Given the description of an element on the screen output the (x, y) to click on. 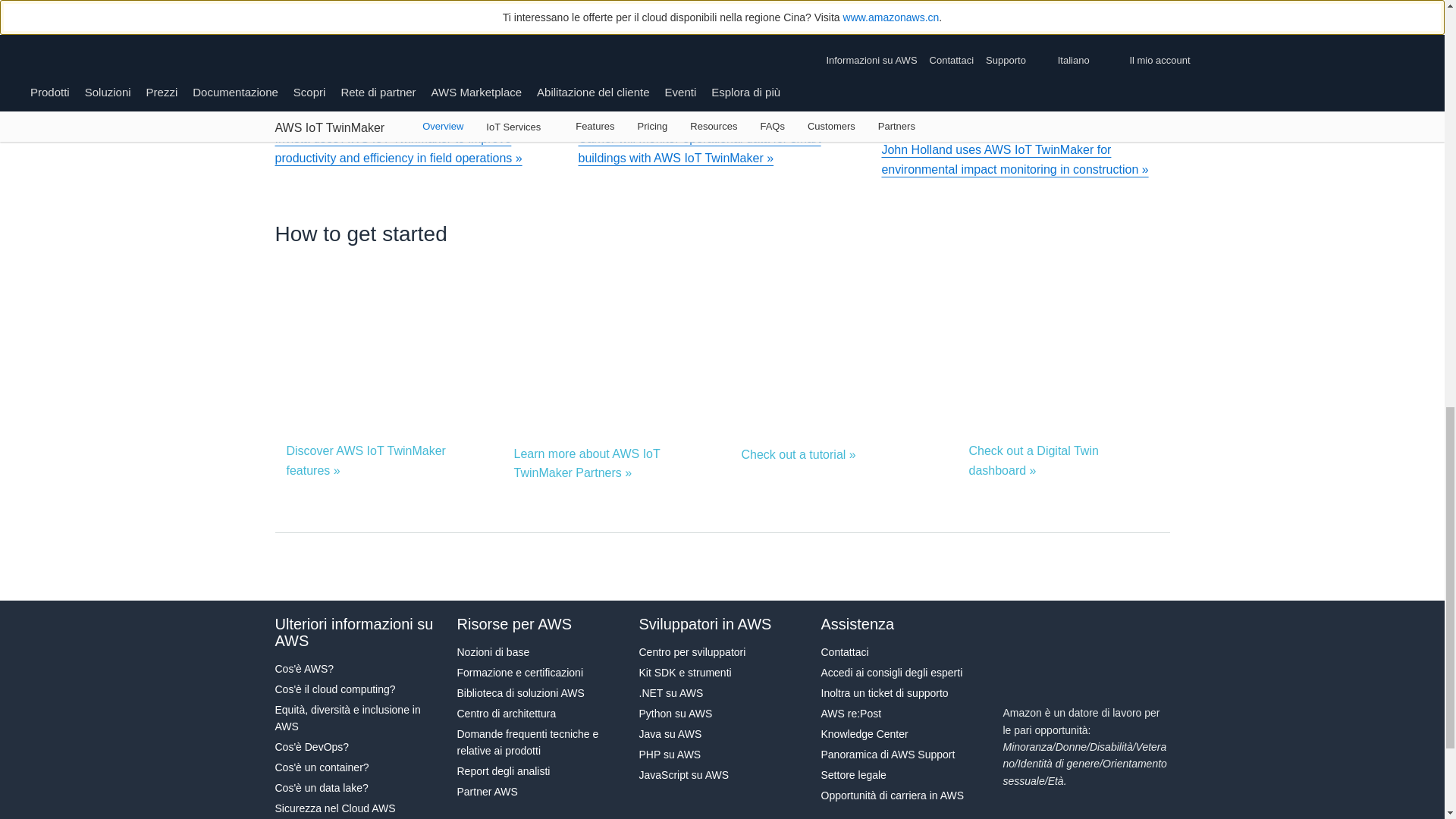
Carrier Customer Story (722, 100)
John Customer Story (1025, 100)
Invista Customer Story (419, 100)
